Given the description of an element on the screen output the (x, y) to click on. 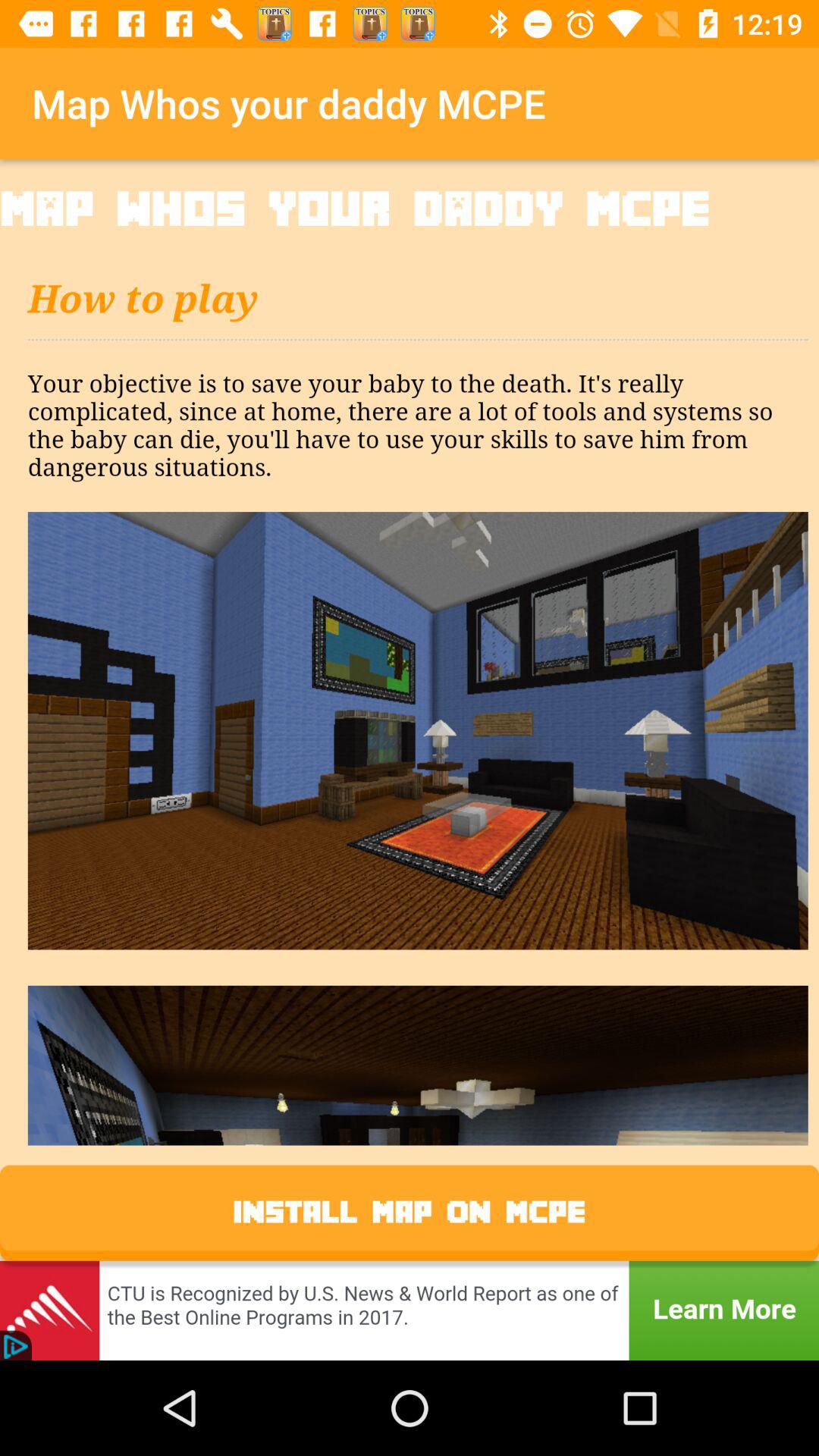
go to advertisement (409, 1310)
